Given the description of an element on the screen output the (x, y) to click on. 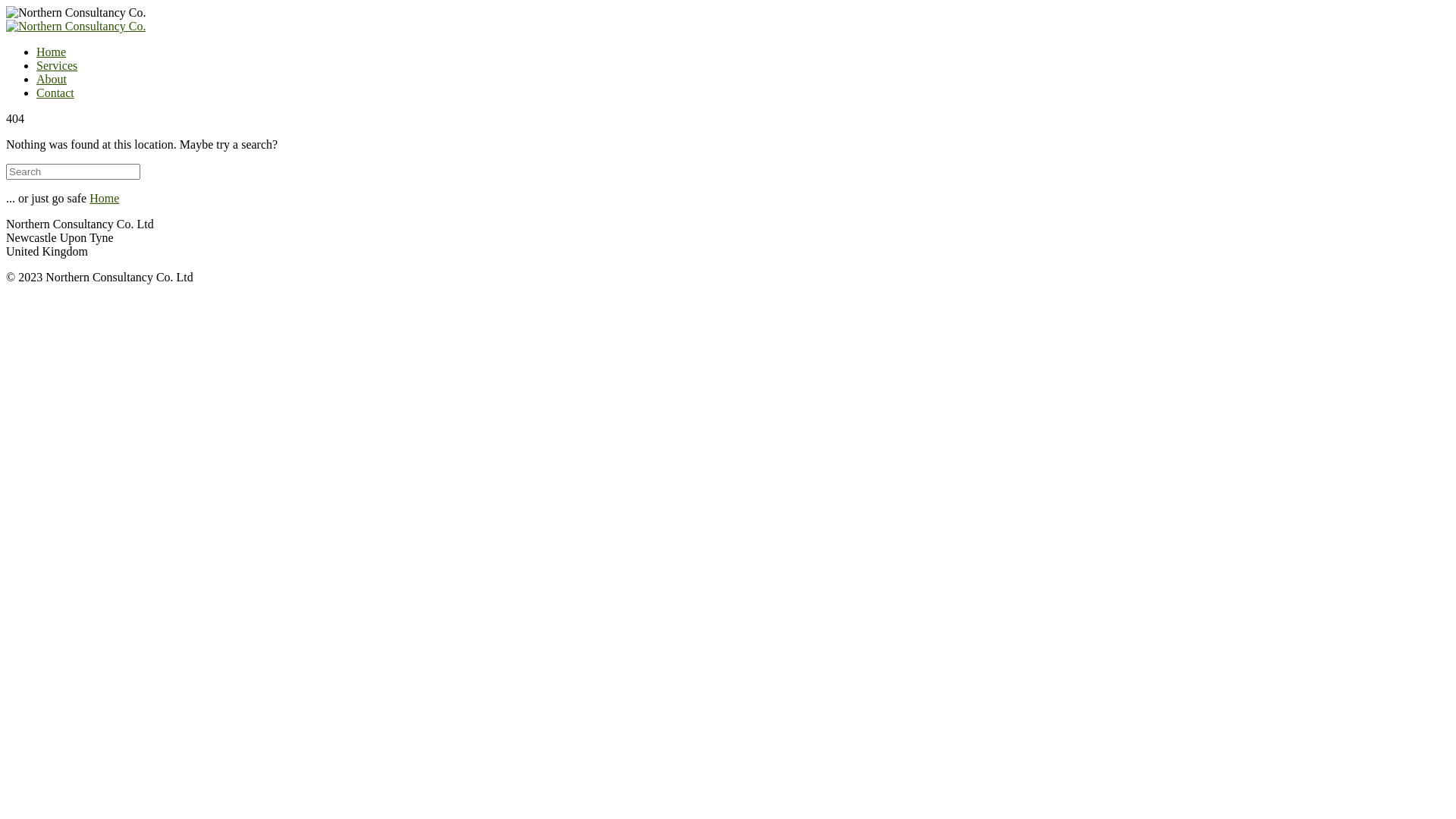
Home Element type: text (50, 51)
Home Element type: text (104, 197)
Contact Element type: text (55, 92)
Services Element type: text (56, 65)
Search for: Element type: hover (73, 171)
About Element type: text (51, 78)
